Given the description of an element on the screen output the (x, y) to click on. 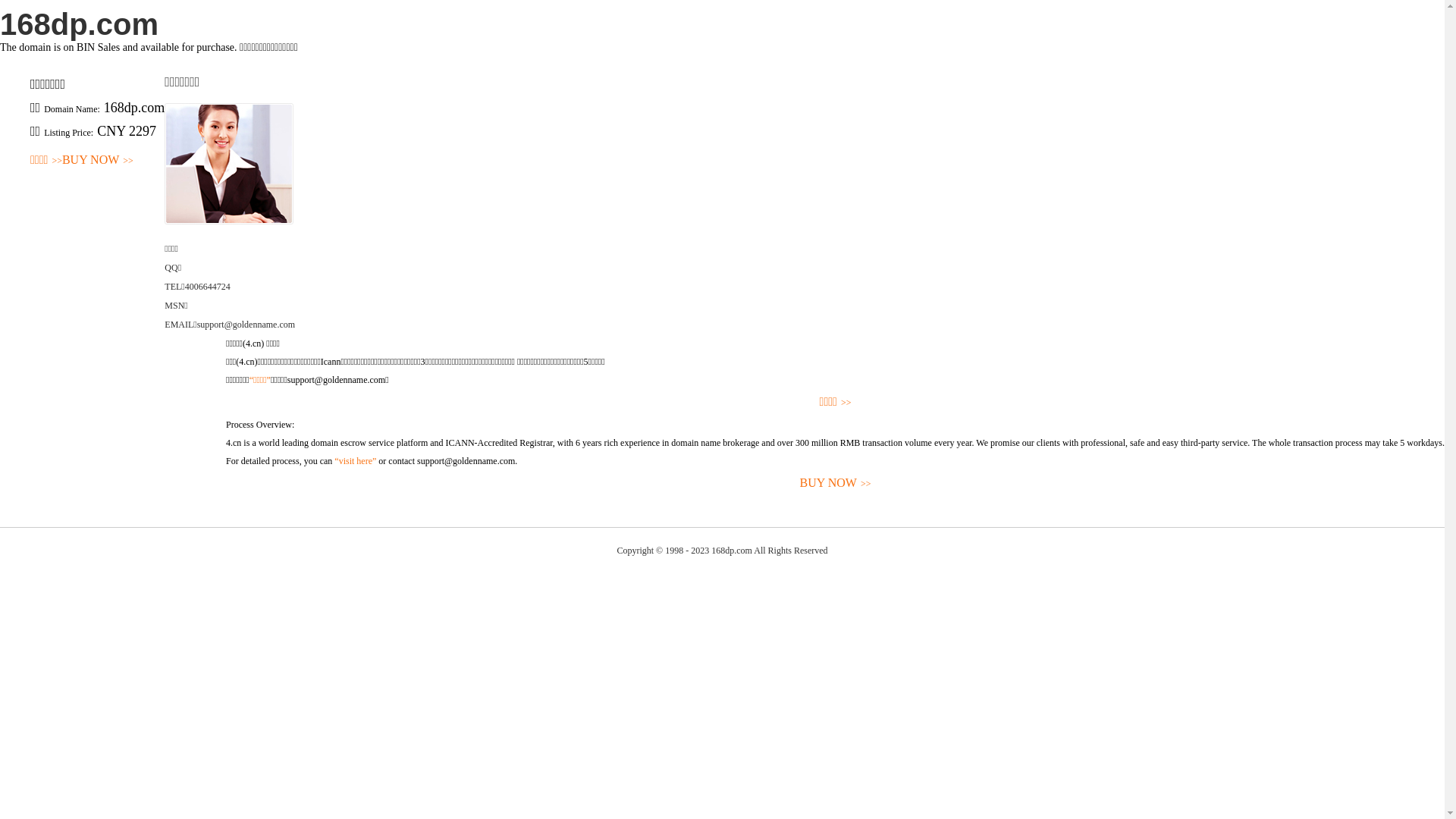
BUY NOW>> Element type: text (834, 483)
BUY NOW>> Element type: text (97, 160)
